Given the description of an element on the screen output the (x, y) to click on. 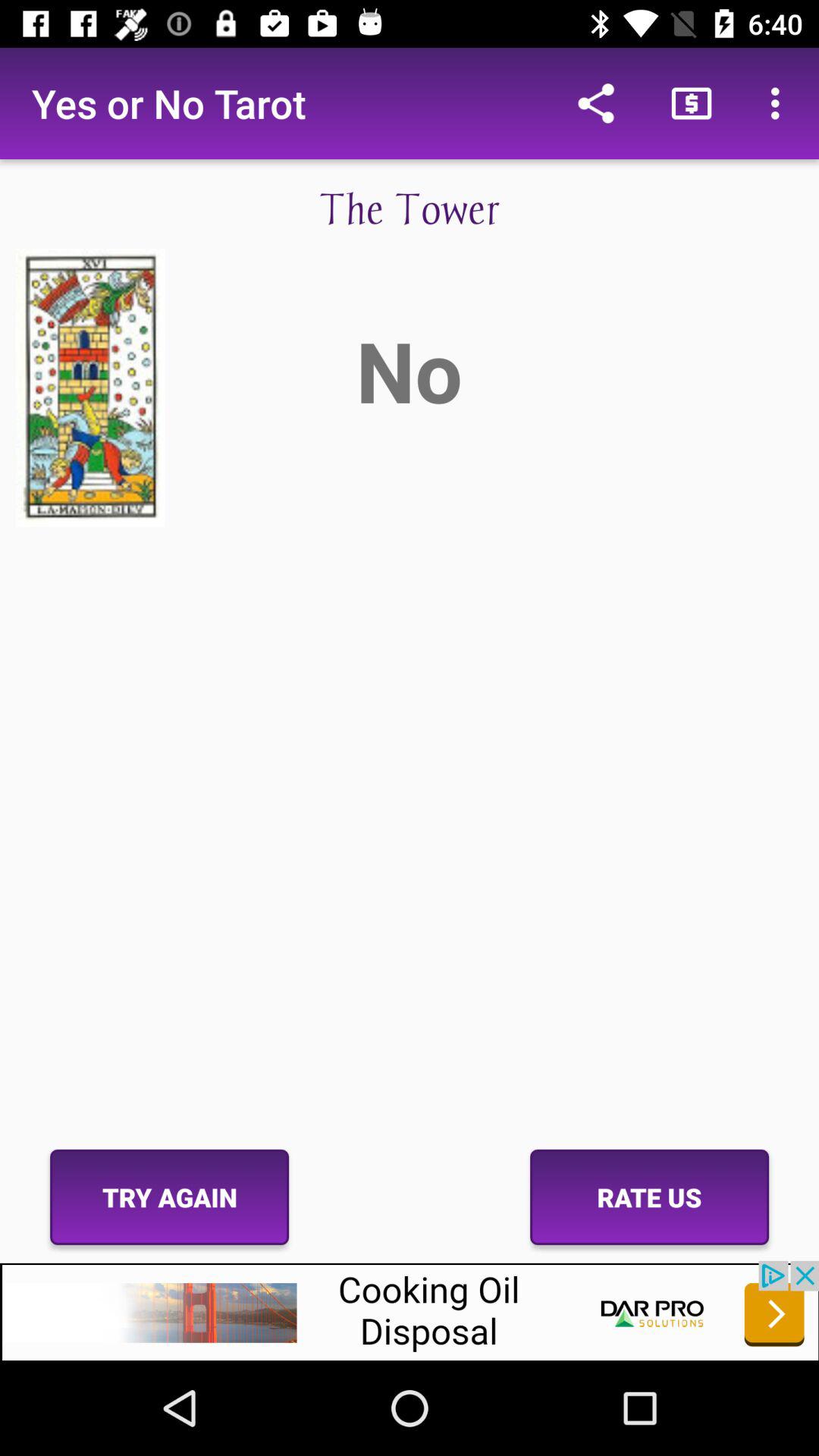
go to advertising partner (409, 1310)
